Given the description of an element on the screen output the (x, y) to click on. 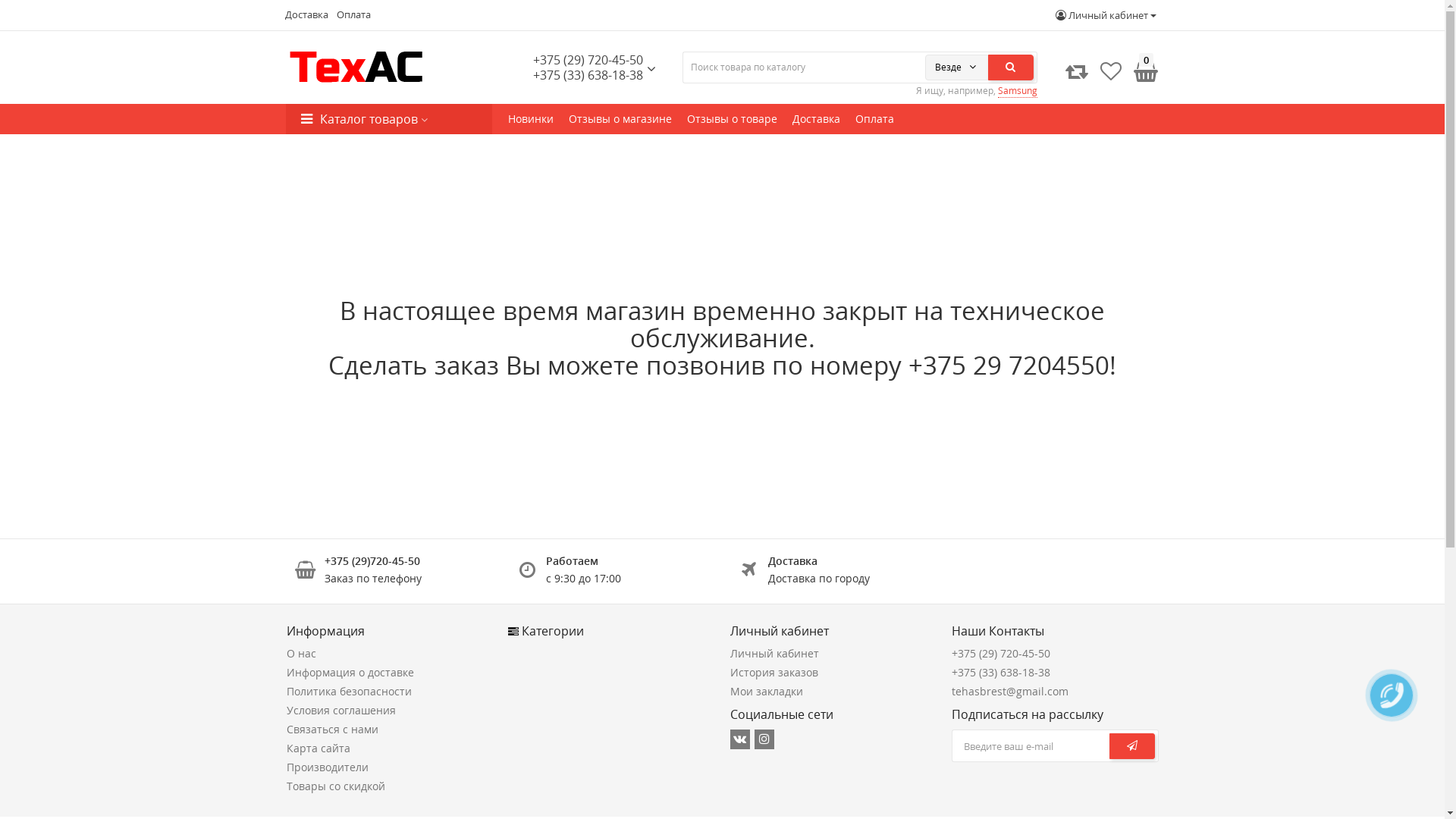
0 Element type: text (1142, 71)
+375 (33) 638-18-38 Element type: text (1000, 672)
tehasbrest@gmail.com Element type: text (1009, 691)
+375 (29) 720-45-50 Element type: text (588, 59)
Samsung Element type: text (1017, 90)
+375 (29) 720-45-50 Element type: text (1000, 653)
